Given the description of an element on the screen output the (x, y) to click on. 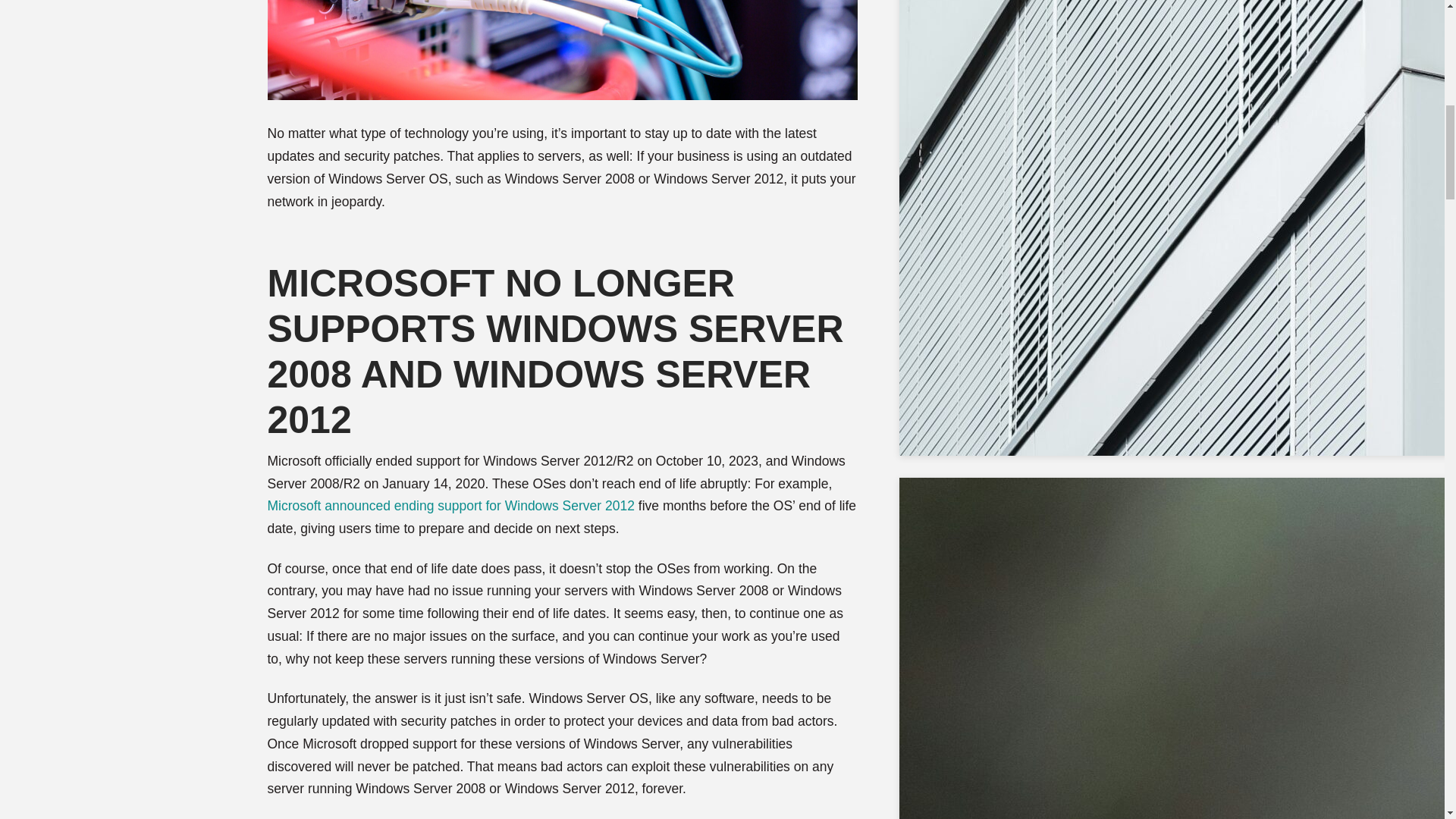
Microsoft announced ending support for Windows Server 2012 (449, 505)
